Given the description of an element on the screen output the (x, y) to click on. 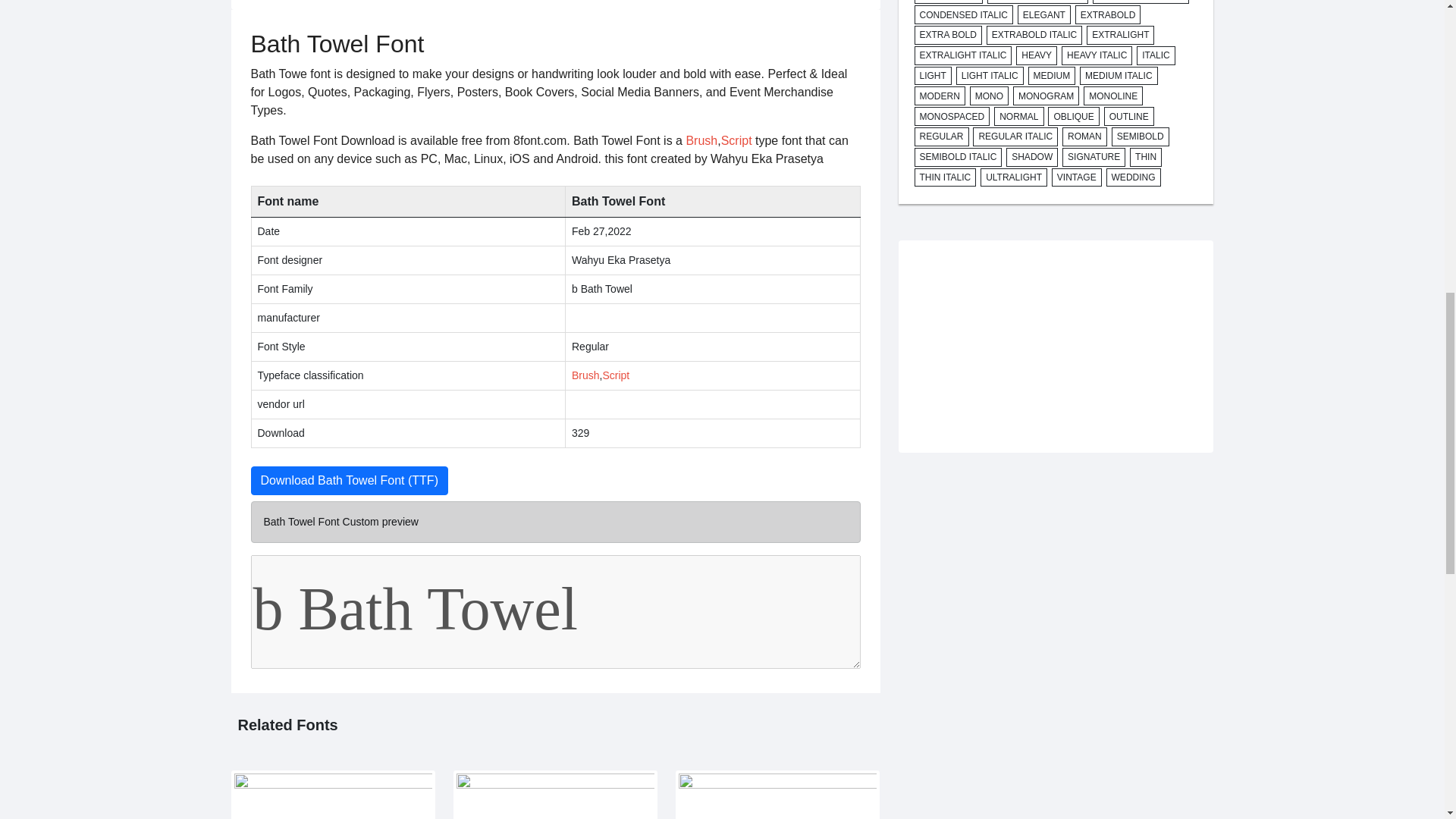
The Antter Font (777, 794)
Bougainvillea Font (331, 794)
Belinda Heylove Font (555, 794)
Brush (701, 140)
Brush (585, 375)
Script (736, 140)
Script (615, 375)
